Given the description of an element on the screen output the (x, y) to click on. 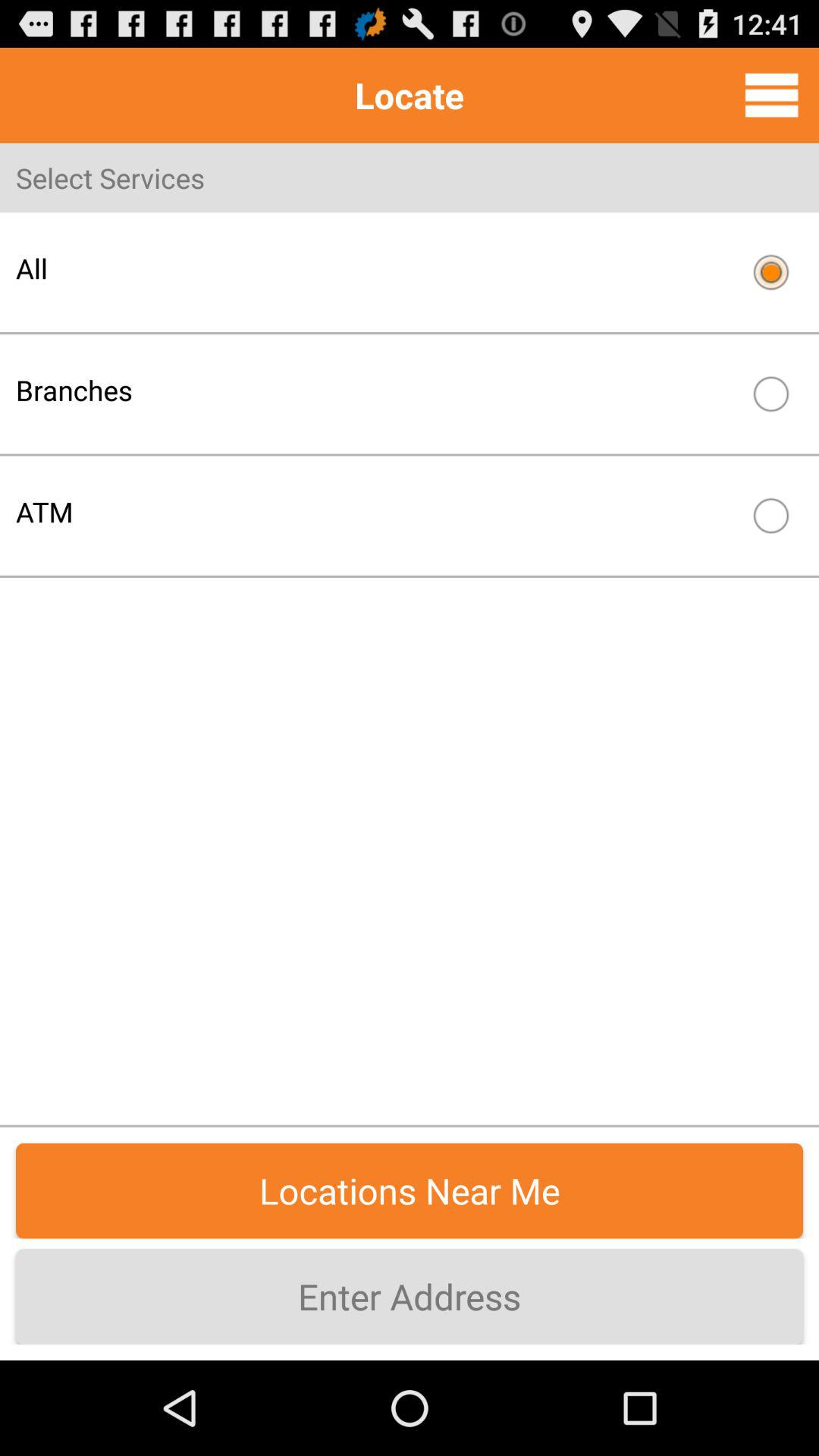
show menu (771, 95)
